Given the description of an element on the screen output the (x, y) to click on. 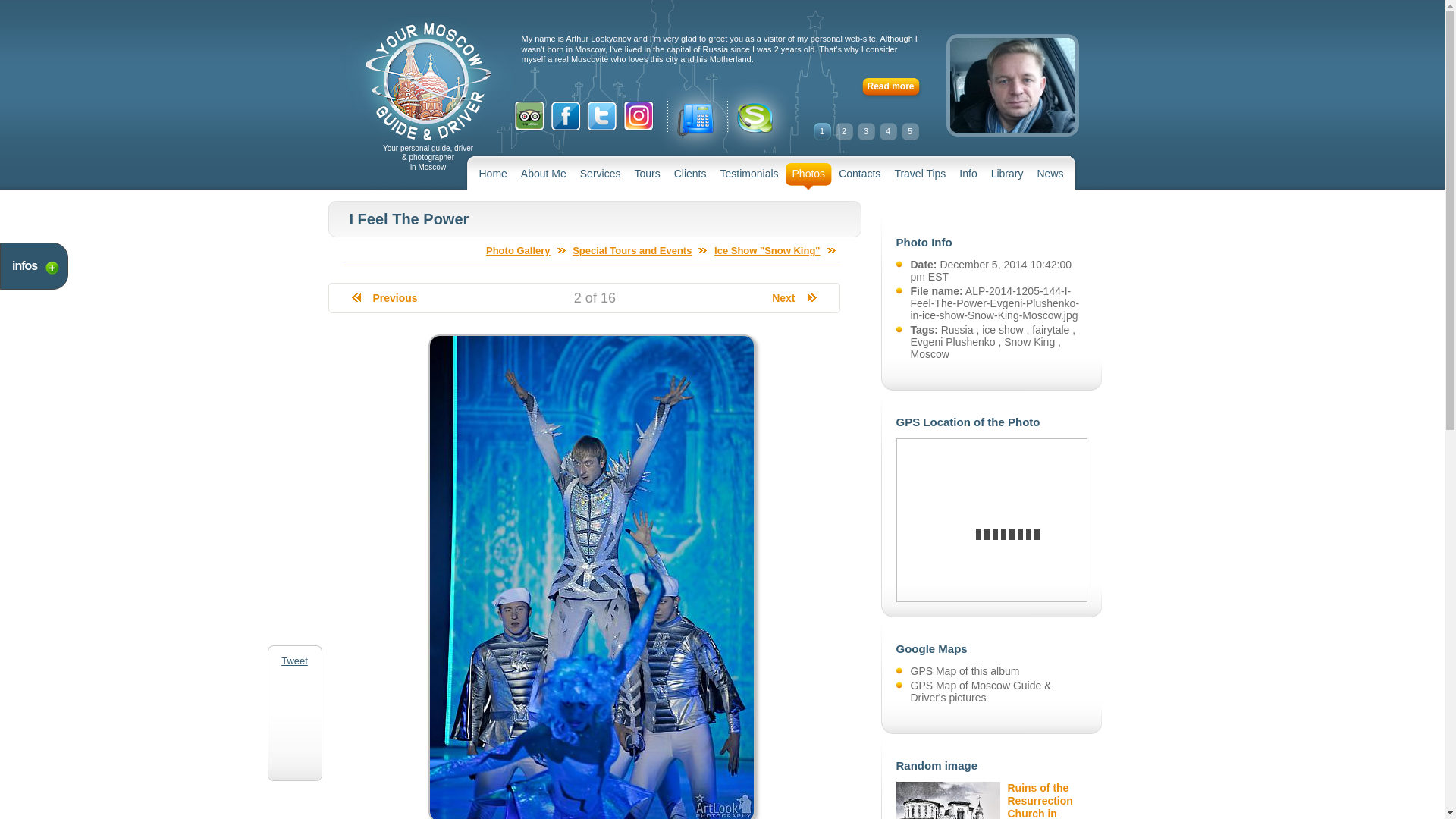
Contacts (858, 176)
Previous (384, 296)
Library (1007, 176)
Tours (646, 176)
View full size (591, 816)
Services (600, 176)
Ice Show "Snow King" (774, 250)
About Me (543, 176)
3 (866, 131)
Read more (891, 87)
Photo Gallery (526, 250)
4 (887, 131)
1 (820, 131)
Photos (808, 176)
Tweet (294, 660)
